Given the description of an element on the screen output the (x, y) to click on. 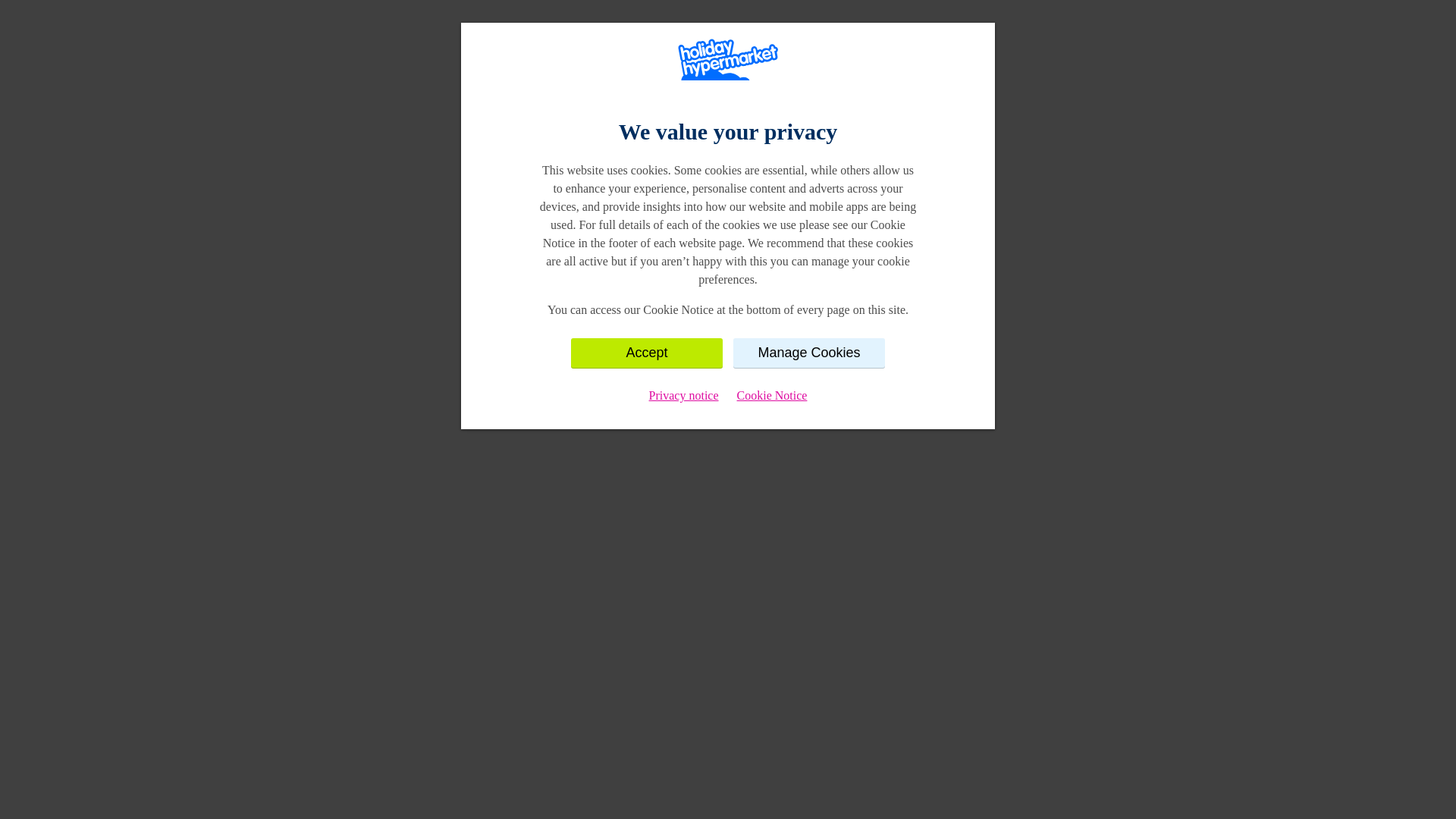
Go To Homepage (727, 259)
